Given the description of an element on the screen output the (x, y) to click on. 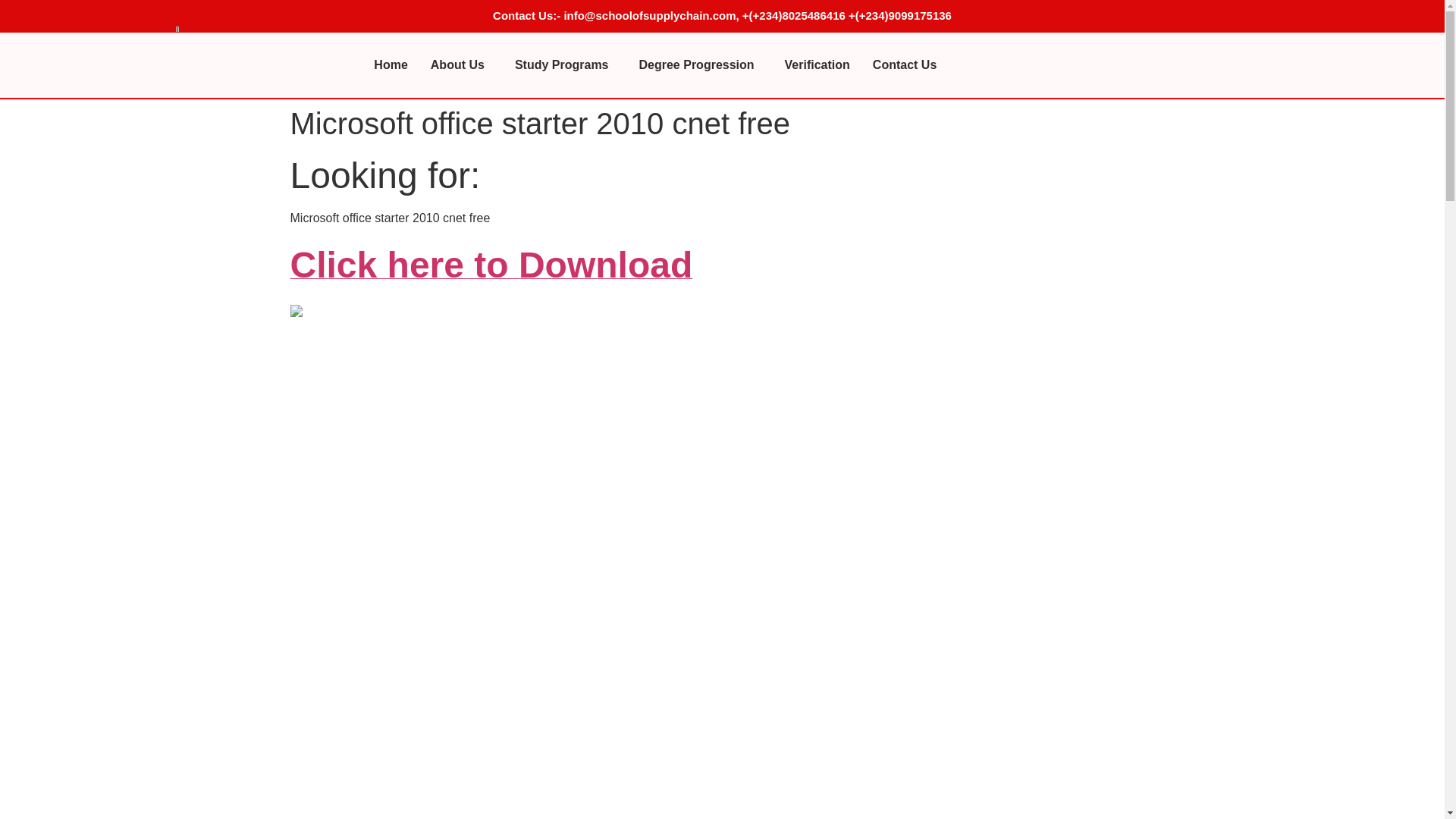
Verification (817, 63)
Study Programs (565, 63)
Home (390, 63)
Contact Us (904, 63)
About Us (461, 63)
Degree Progression (700, 63)
Click here to Download (491, 273)
